Given the description of an element on the screen output the (x, y) to click on. 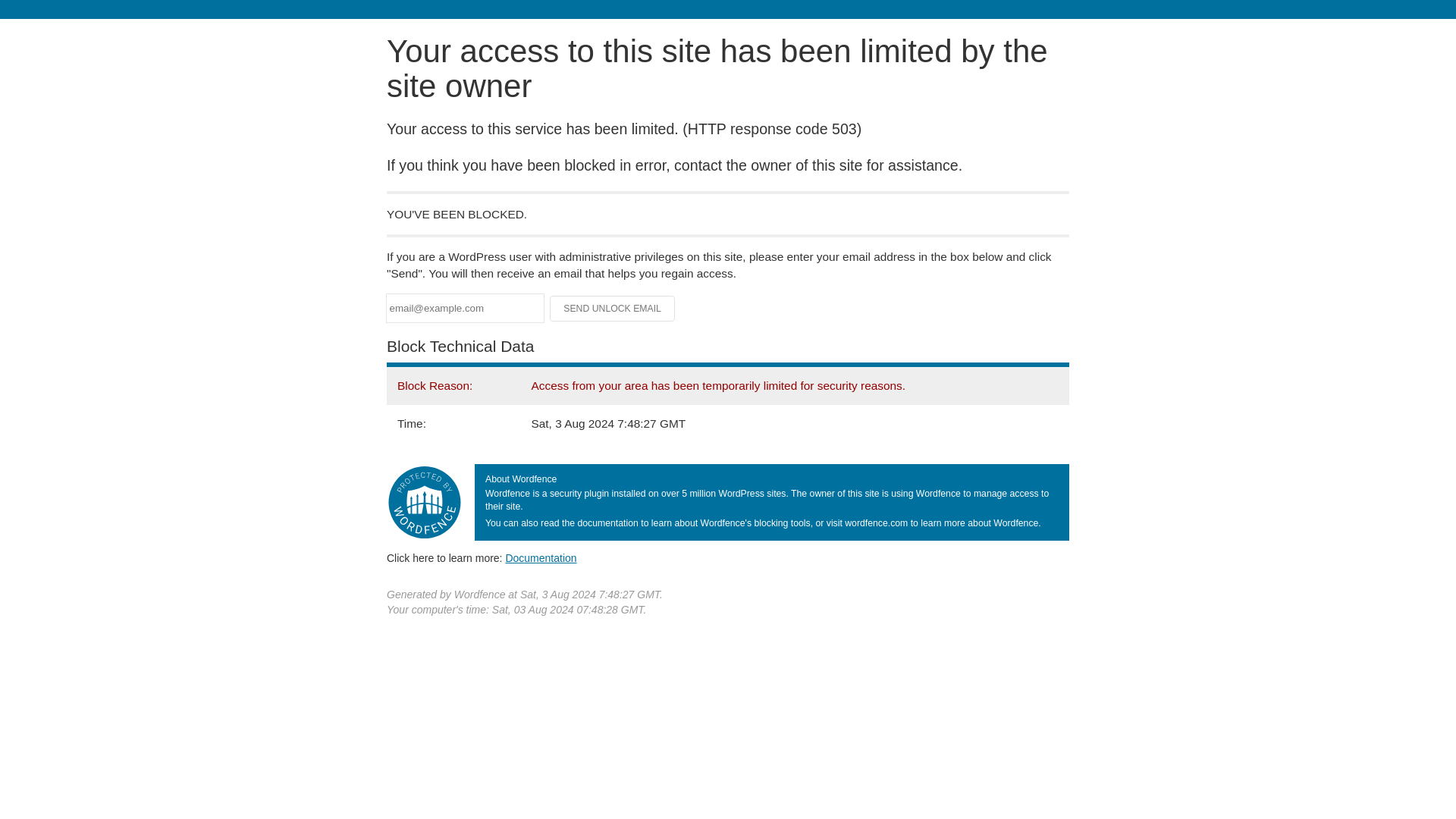
Send Unlock Email (612, 308)
Send Unlock Email (612, 308)
Documentation (540, 558)
